Given the description of an element on the screen output the (x, y) to click on. 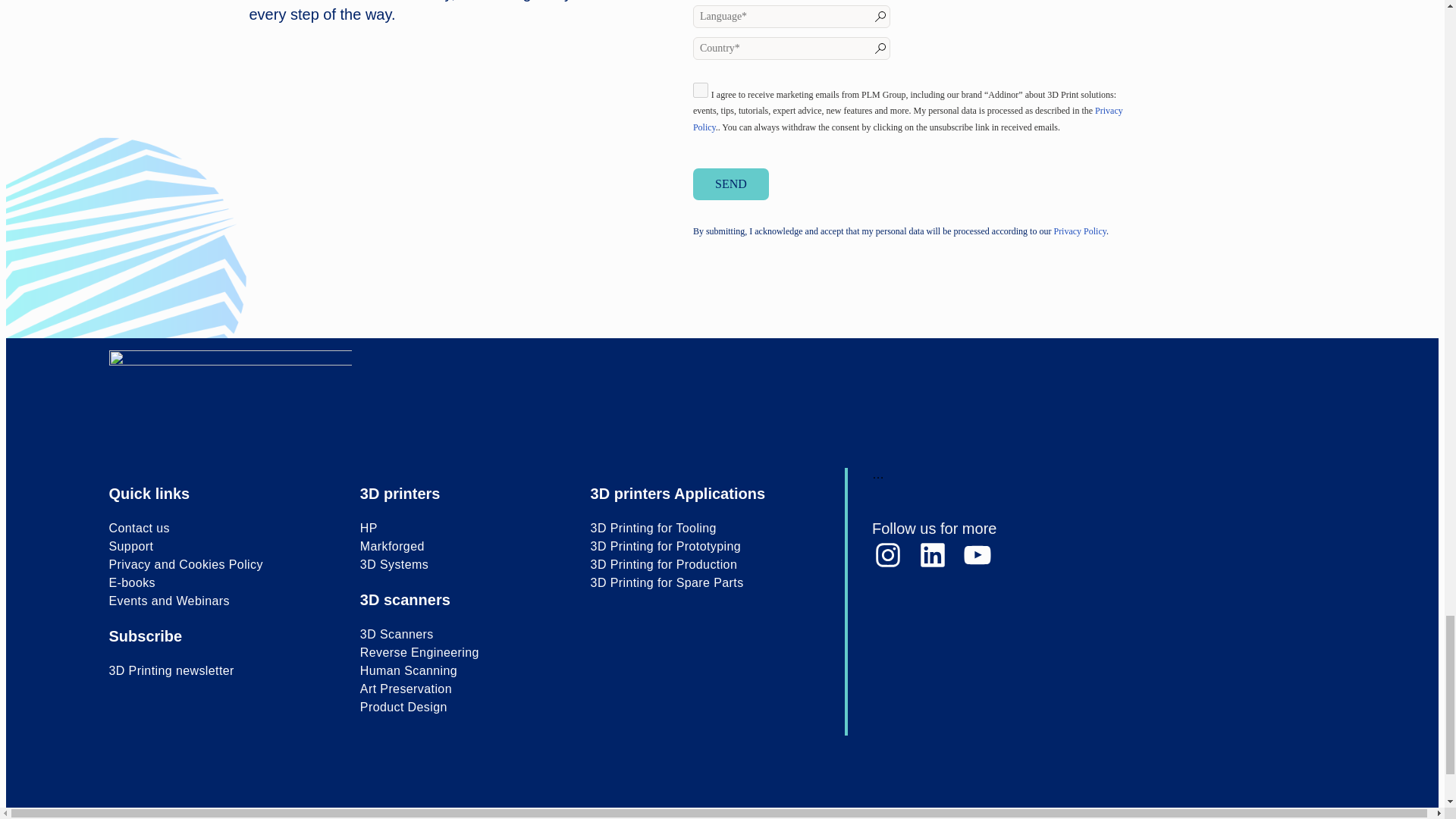
Language (791, 15)
Visit Country (791, 47)
c946a4e6-c3e5-ee11-904d-6045bd8b46c6;Email;true (700, 89)
